Given the description of an element on the screen output the (x, y) to click on. 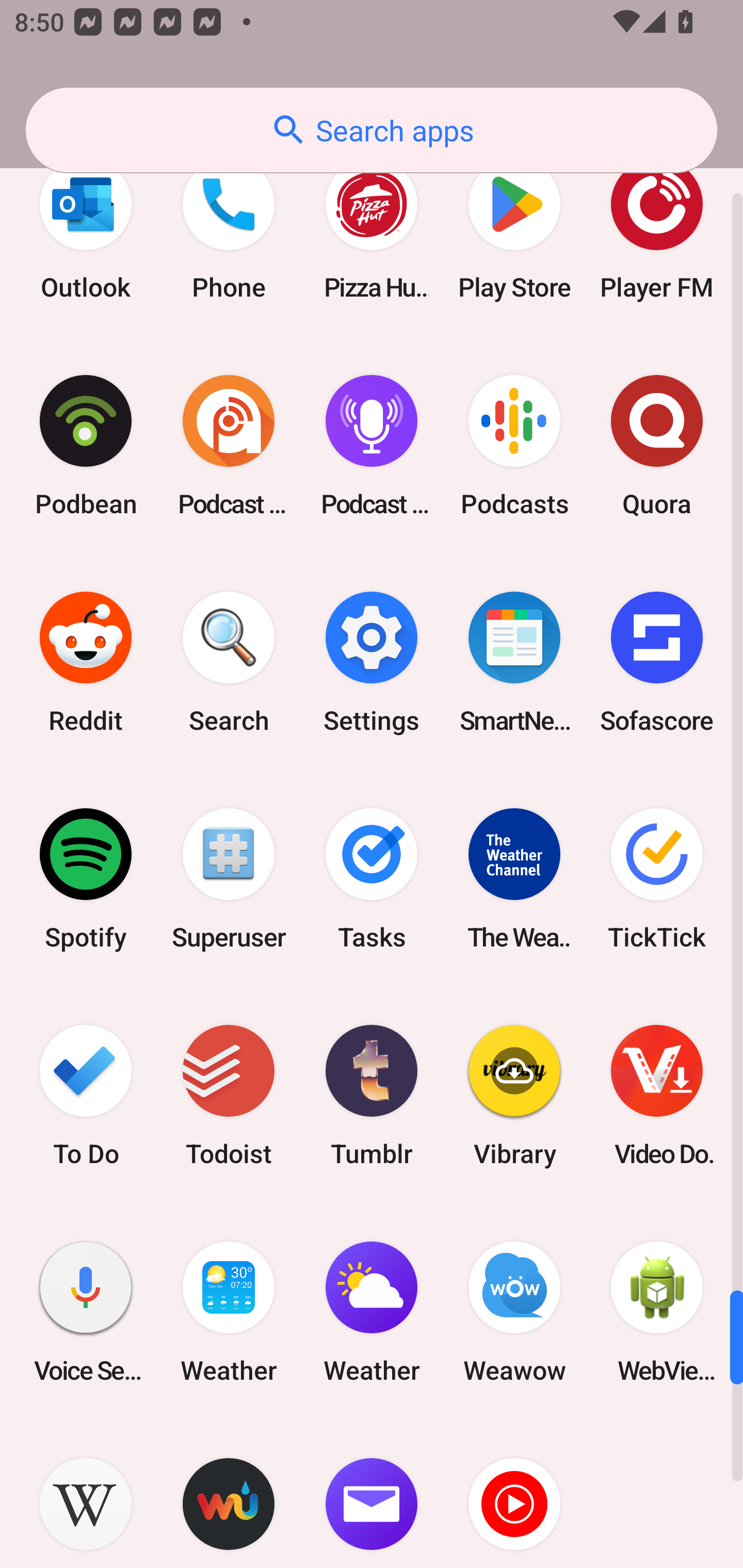
  Search apps (371, 130)
Outlook (85, 228)
Phone (228, 228)
Pizza Hut HK & Macau (371, 228)
Play Store (514, 228)
Player FM (656, 228)
Podbean (85, 445)
Podcast Addict (228, 445)
Podcast Player (371, 445)
Podcasts (514, 445)
Quora (656, 445)
Reddit (85, 661)
Search (228, 661)
Settings (371, 661)
SmartNews (514, 661)
Sofascore (656, 661)
Spotify (85, 878)
Superuser (228, 878)
Tasks (371, 878)
The Weather Channel (514, 878)
TickTick (656, 878)
To Do (85, 1095)
Todoist (228, 1095)
Tumblr (371, 1095)
Vibrary (514, 1095)
Video Downloader & Ace Player (656, 1095)
Voice Search (85, 1312)
Weather (228, 1312)
Weather (371, 1312)
Weawow (514, 1312)
WebView Browser Tester (656, 1312)
Wikipedia (85, 1494)
Wunderground (228, 1494)
Yahoo Mail (371, 1494)
YT Music (514, 1494)
